Given the description of an element on the screen output the (x, y) to click on. 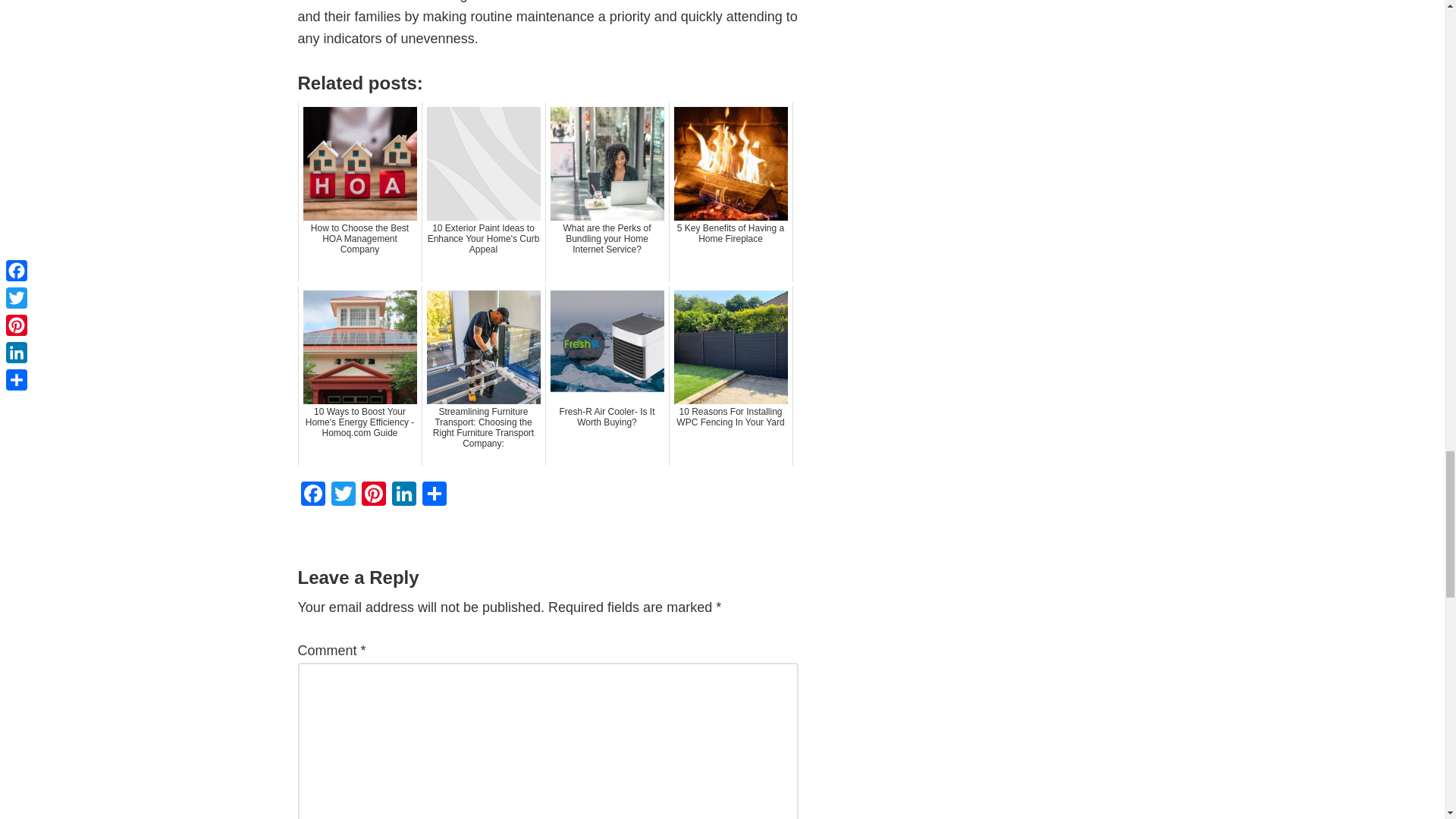
Facebook (312, 495)
Pinterest (373, 495)
Twitter (342, 495)
LinkedIn (403, 495)
